Given the description of an element on the screen output the (x, y) to click on. 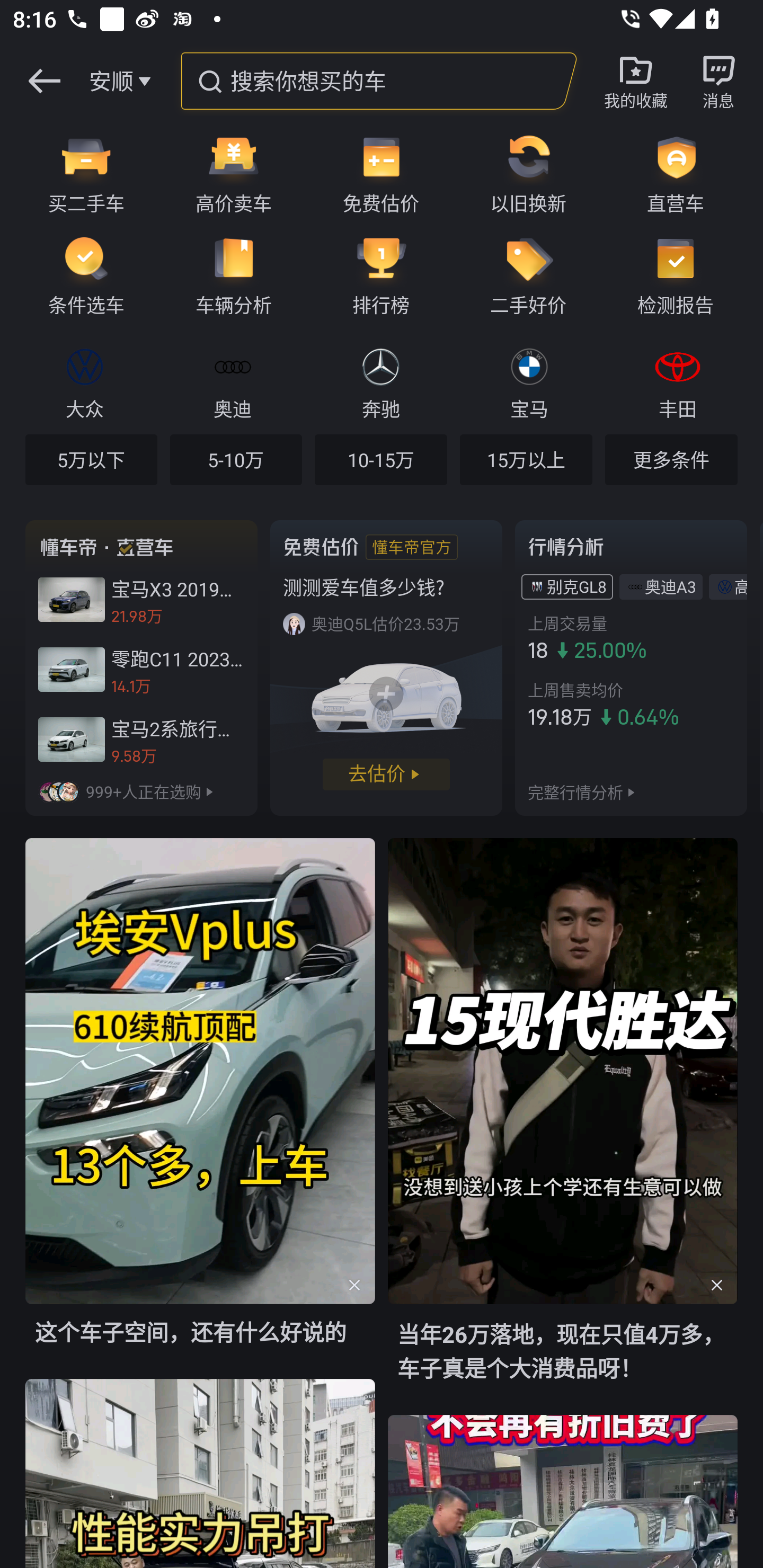
我的收藏 (635, 80)
安顺 (111, 80)
买二手车 (80, 172)
高价卖车 (233, 172)
免费估价 (380, 172)
以旧换新 (528, 172)
直营车 (682, 172)
条件选车 (80, 274)
车辆分析 (233, 274)
排行榜 (380, 274)
二手好价 (528, 274)
检测报告 (682, 274)
大众 (84, 381)
奥迪 (232, 381)
奔驰 (380, 381)
宝马 (529, 381)
丰田 (677, 381)
5万以下 (91, 459)
5-10万 (236, 459)
10-15万 (380, 459)
15万以上 (526, 459)
更多条件 (671, 459)
测测爱车值多少钱? 奥迪Q5L估价23.53万 去估价  (386, 667)
宝马X3 2019款 xDrive28i M运动套装 21.98万 (141, 599)
别克GL8 (576, 585)
奥迪A3 (669, 585)
零跑C11 2023款 增程式 285智享版 14.1万 (141, 669)
宝马2系旅行车 2018款 218i 领先型 9.58万 (141, 739)
999+人正在选购 (141, 791)
完整行情分析 (575, 791)
这个车子空间，还有什么好说的 (200, 1107)
当年26万落地，现在只值4万多，车子真是个大消费品呀！ (562, 1125)
